Given the description of an element on the screen output the (x, y) to click on. 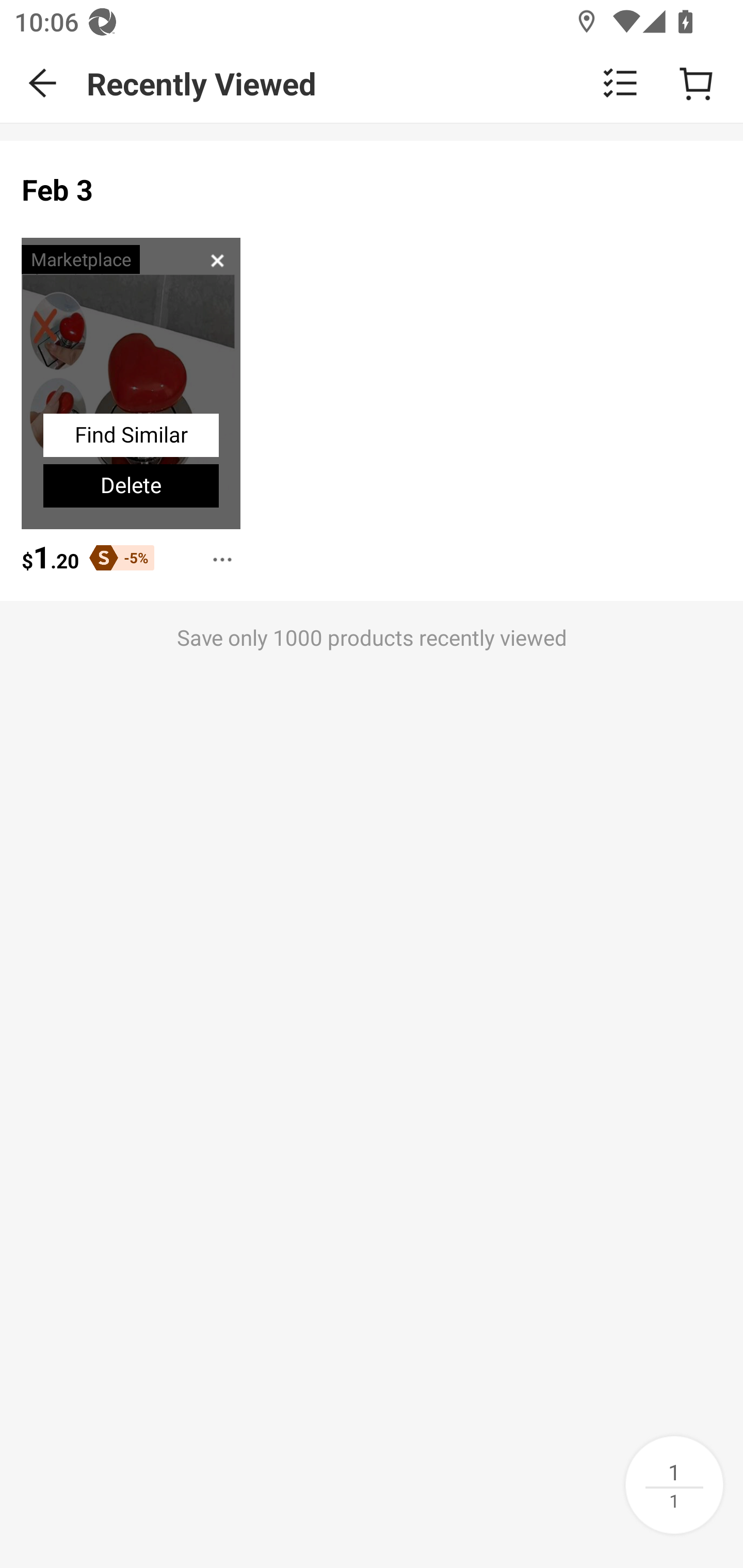
Recently Viewed change view (414, 82)
change view (620, 82)
BACK (43, 83)
Feb 3 (57, 189)
Find Similar (130, 434)
Delete (130, 486)
MORE (216, 553)
Save only 1000 products recently viewed (371, 680)
1 (674, 1484)
